Given the description of an element on the screen output the (x, y) to click on. 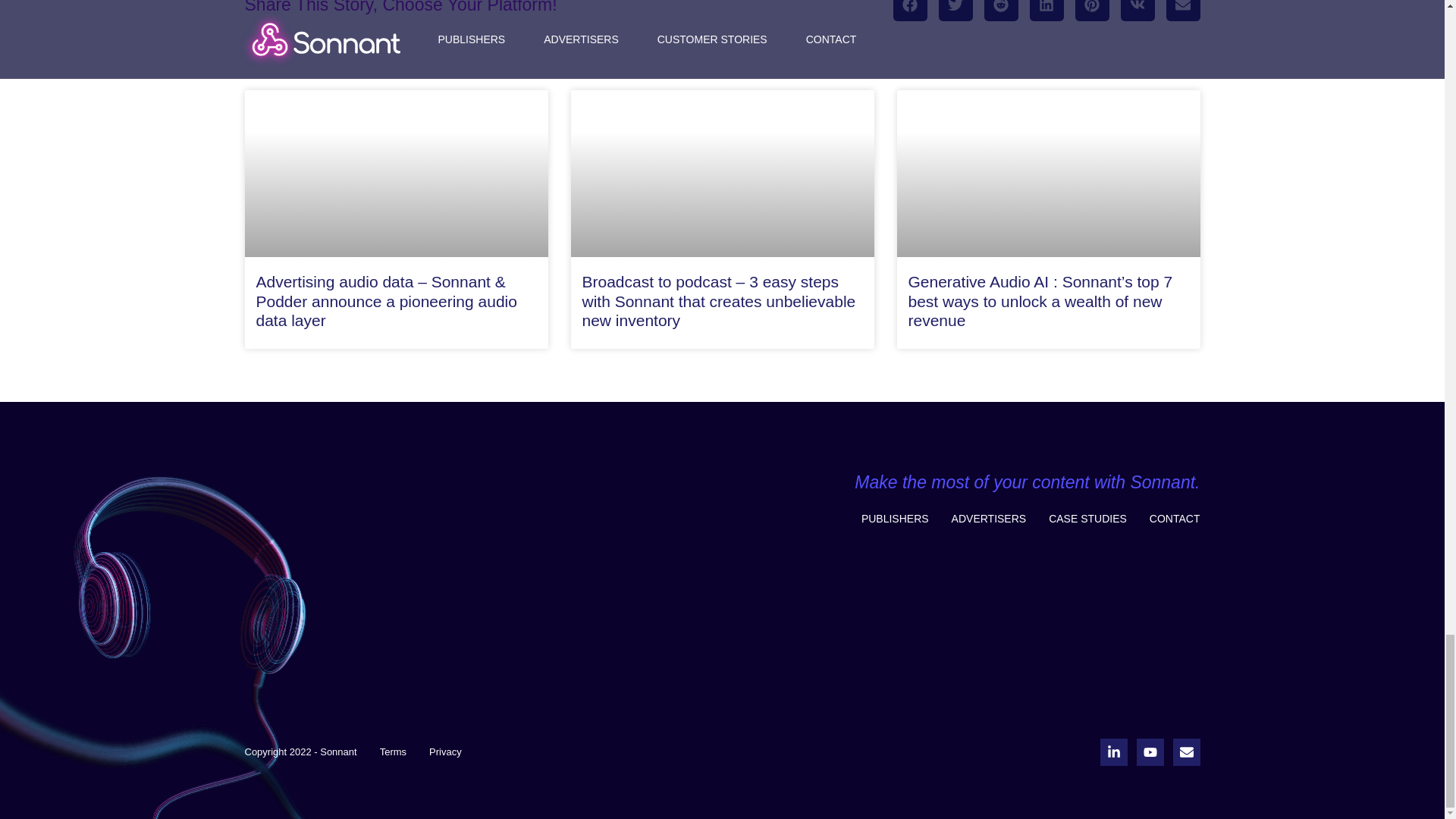
Terms (393, 752)
ADVERTISERS (989, 519)
PUBLISHERS (894, 519)
Privacy (445, 752)
CONTACT (1174, 519)
CASE STUDIES (1087, 519)
